Given the description of an element on the screen output the (x, y) to click on. 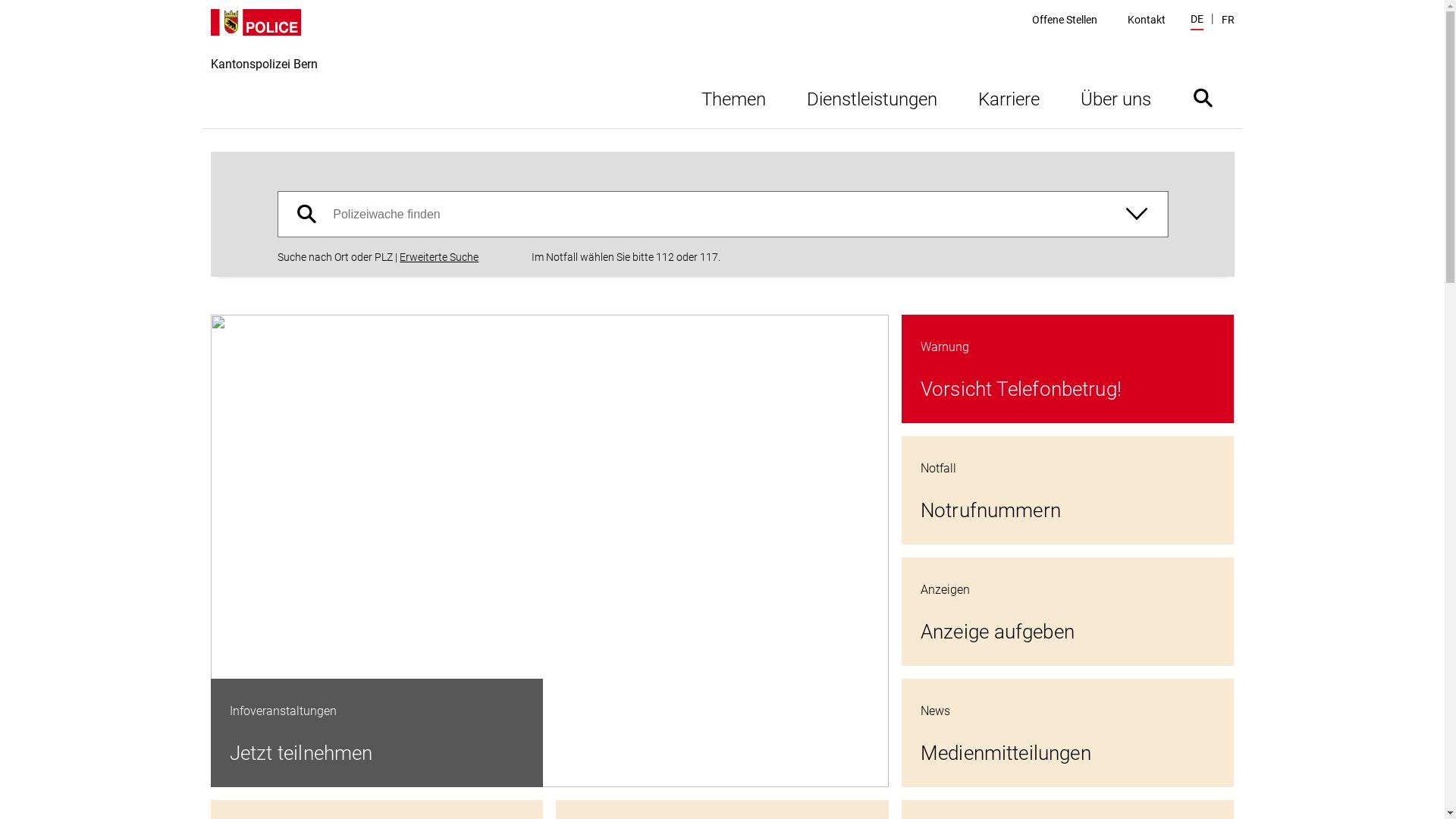
Medienmitteilungen    
News Element type: text (1067, 732)
Anzeige aufgeben
Anzeigen Element type: text (1067, 611)
Themen Element type: text (733, 96)
DE Element type: text (1196, 21)
Notrufnummern
Notfall Element type: text (1067, 490)
Suche ein- oder ausblenden Element type: text (1201, 96)
Kontakt Element type: text (1146, 19)
Kantonspolizei Bern Element type: text (263, 68)
Jetzt teilnehmen
Infoveranstaltungen Element type: text (549, 550)
Erweiterte Suche Element type: text (438, 257)
Offene Stellen Element type: text (1064, 19)
Polizeiwache finden. Element type: hover (722, 214)
Vorsicht Telefonbetrug!
Warnung Element type: text (1067, 368)
Karriere Element type: text (1008, 96)
FR Element type: text (1226, 19)
Dienstleistungen Element type: text (871, 96)
